Given the description of an element on the screen output the (x, y) to click on. 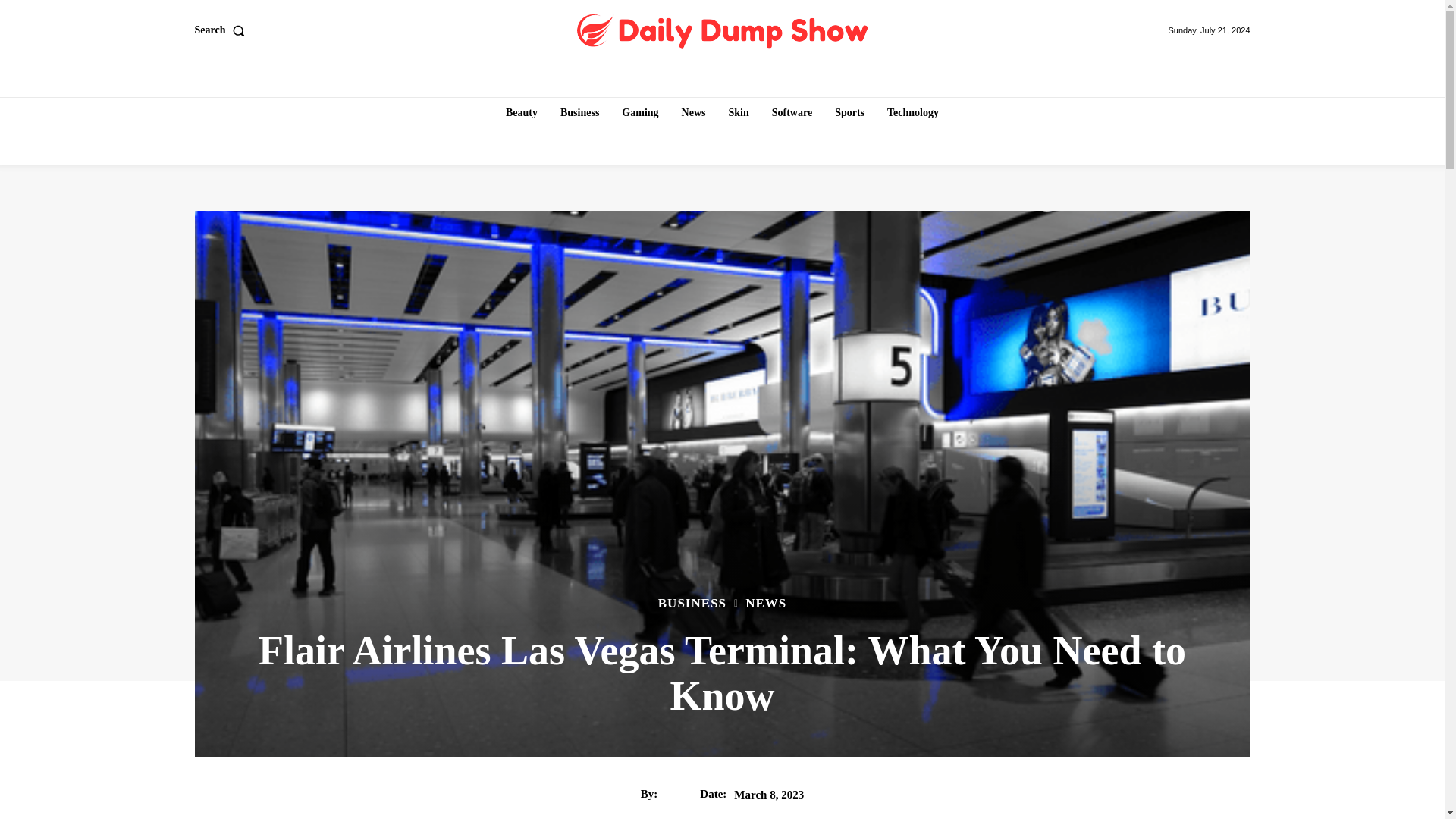
Technology (912, 112)
BUSINESS (692, 603)
Skin (737, 112)
Gaming (639, 112)
Sports (849, 112)
Beauty (520, 112)
NEWS (765, 603)
News (693, 112)
Software (791, 112)
Search (221, 29)
Business (580, 112)
